Given the description of an element on the screen output the (x, y) to click on. 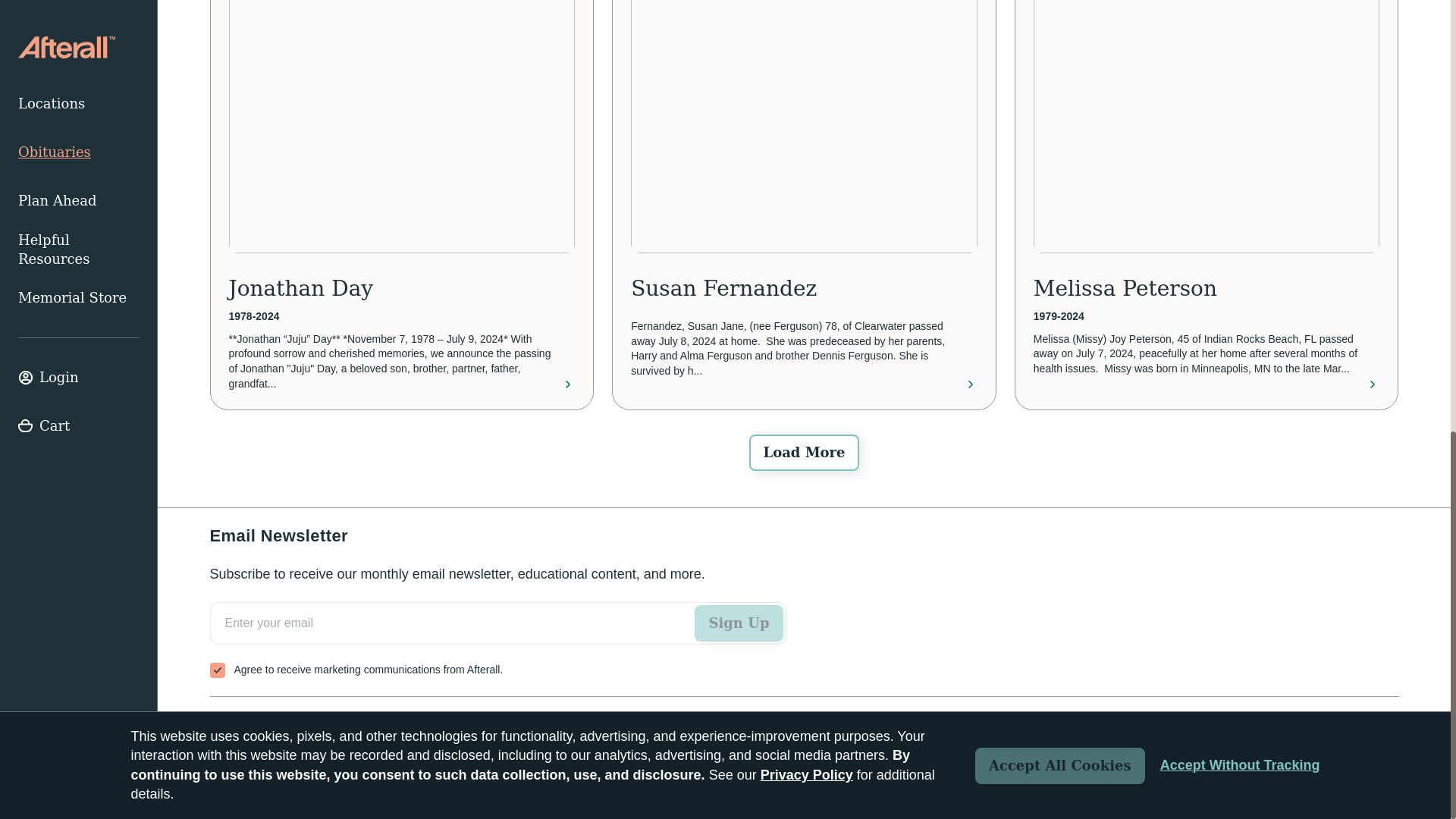
Email Newsletter (497, 639)
Privacy Policy (1362, 777)
Load More (804, 452)
Sign Up (738, 623)
FAQs (341, 724)
Track an Order (257, 724)
